Given the description of an element on the screen output the (x, y) to click on. 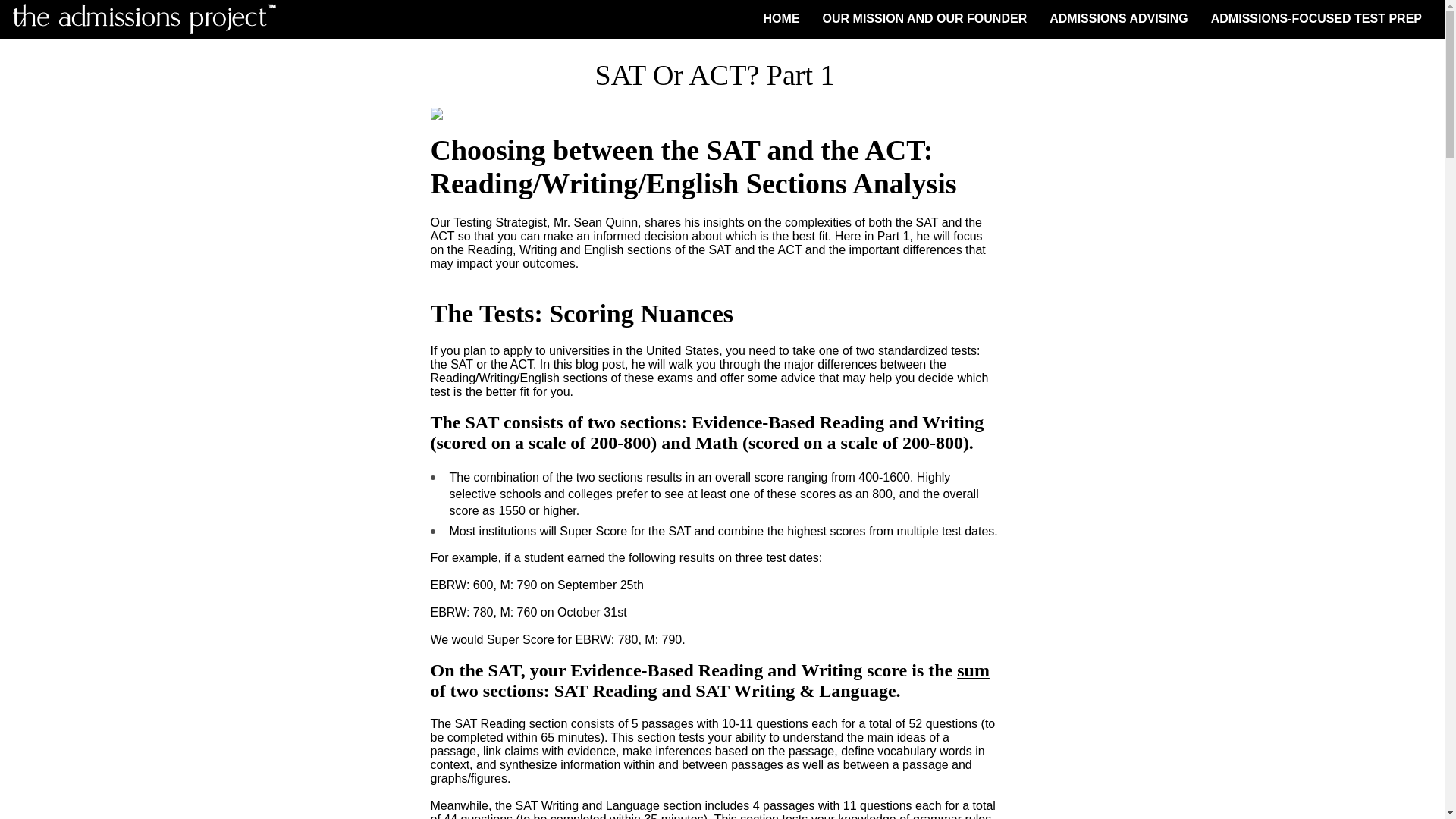
The SAT (464, 422)
OUR MISSION AND OUR FOUNDER (924, 19)
ADMISSIONS ADVISING (1118, 19)
ADMISSIONS-FOCUSED TEST PREP (1315, 19)
HOME (781, 19)
